Given the description of an element on the screen output the (x, y) to click on. 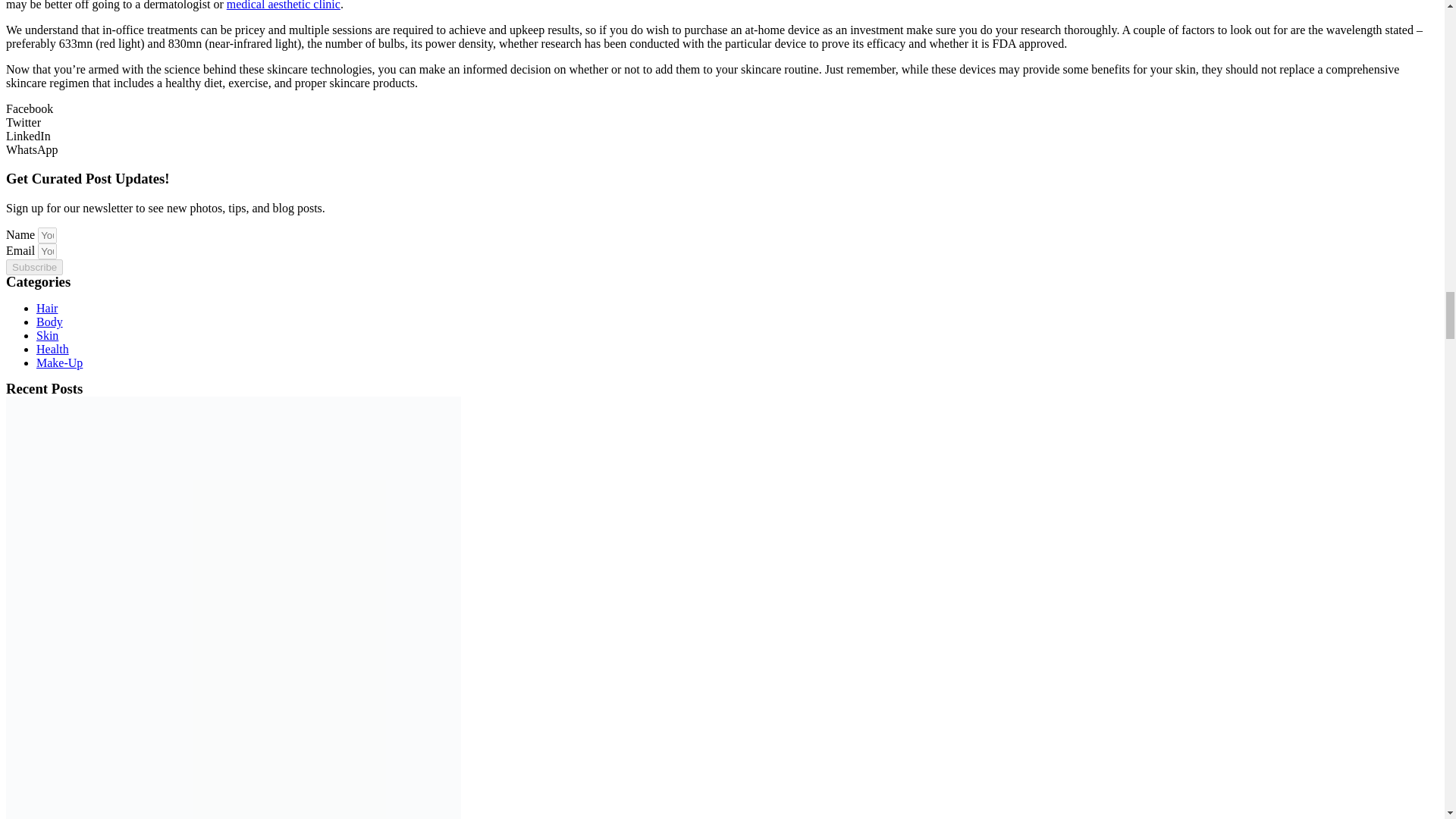
Skin (47, 335)
Body (49, 321)
Make-Up (59, 362)
medical aesthetic clinic (283, 5)
Hair (47, 308)
Subscribe (33, 267)
Health (52, 349)
